Given the description of an element on the screen output the (x, y) to click on. 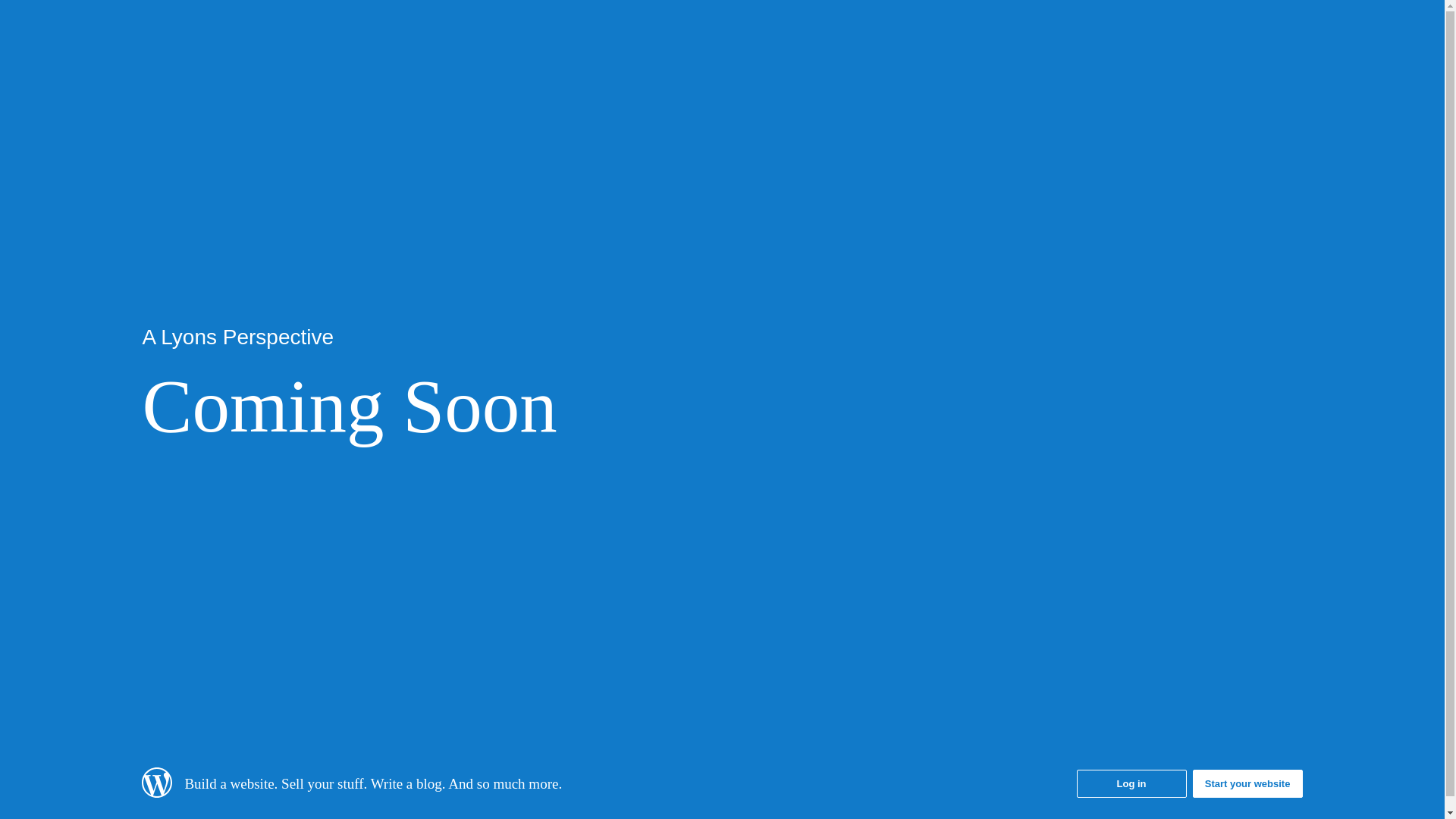
WordPress.com Element type: text (156, 793)
Log in Element type: text (1131, 783)
Start your website Element type: text (1247, 783)
